Given the description of an element on the screen output the (x, y) to click on. 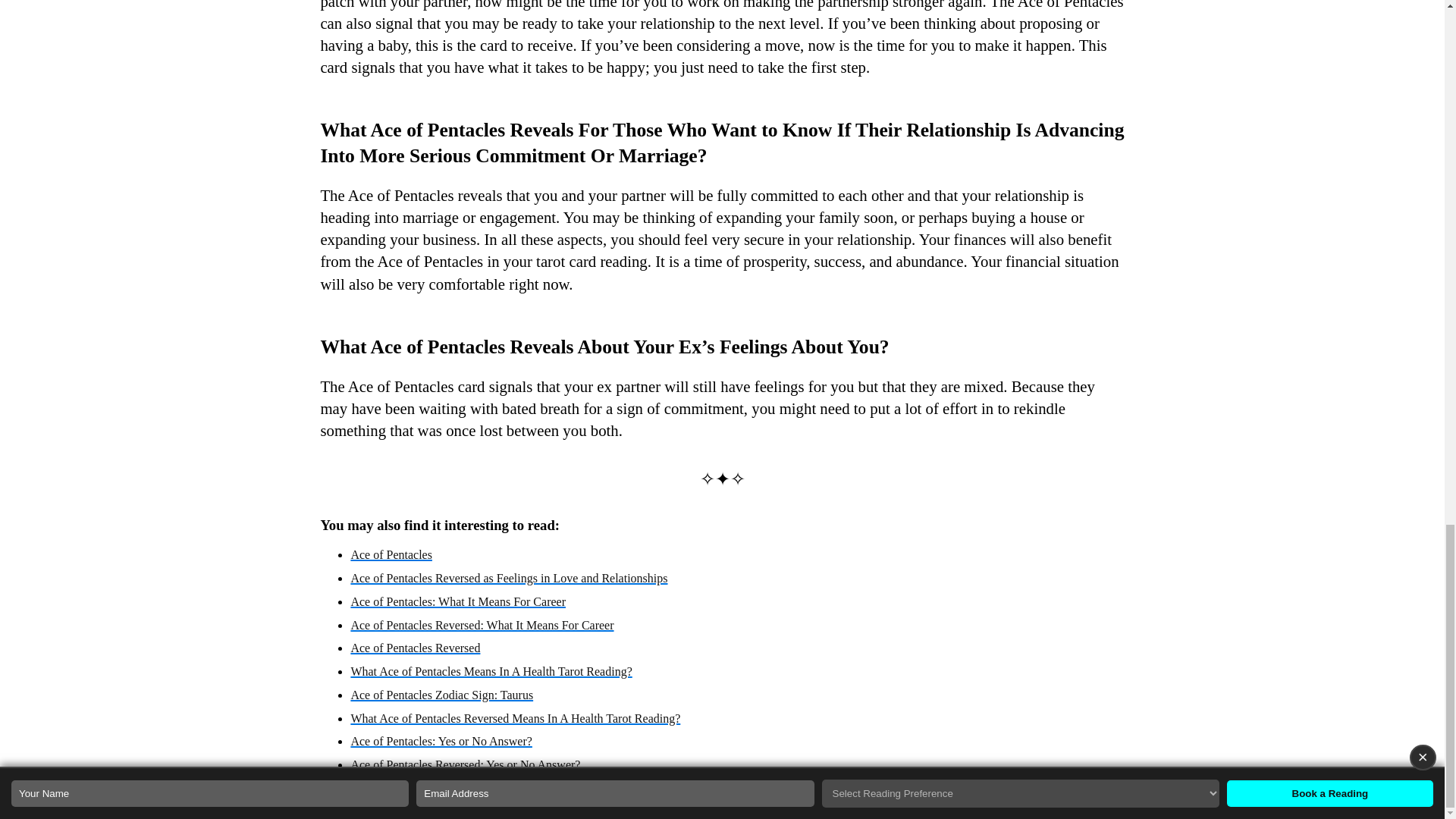
Ace of Pentacles Reversed (415, 647)
Ace of Pentacles (391, 554)
Ace of Pentacles Reversed: What It Means For Career (481, 625)
Ace of Pentacles Reversed: Yes or No Answer? (464, 764)
Ace of Pentacles: What It Means For Career (458, 601)
Ace of Pentacles Zodiac Sign: Taurus (441, 694)
Ace of Pentacles: Yes or No Answer? (441, 740)
What Ace of Pentacles Means In A Health Tarot Reading? (490, 671)
